Given the description of an element on the screen output the (x, y) to click on. 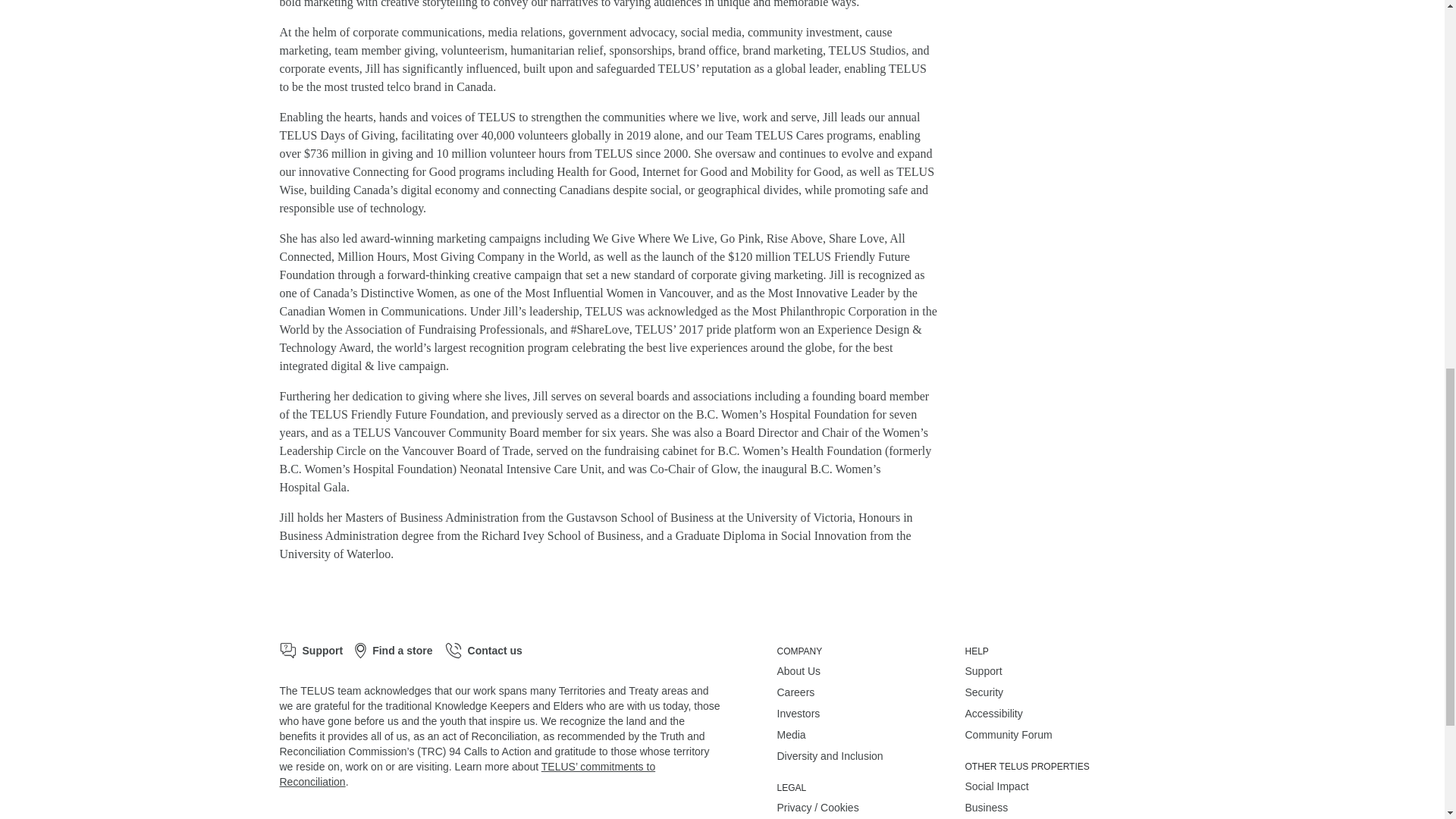
Find a store (393, 650)
Support (310, 650)
Contact us (483, 650)
